Given the description of an element on the screen output the (x, y) to click on. 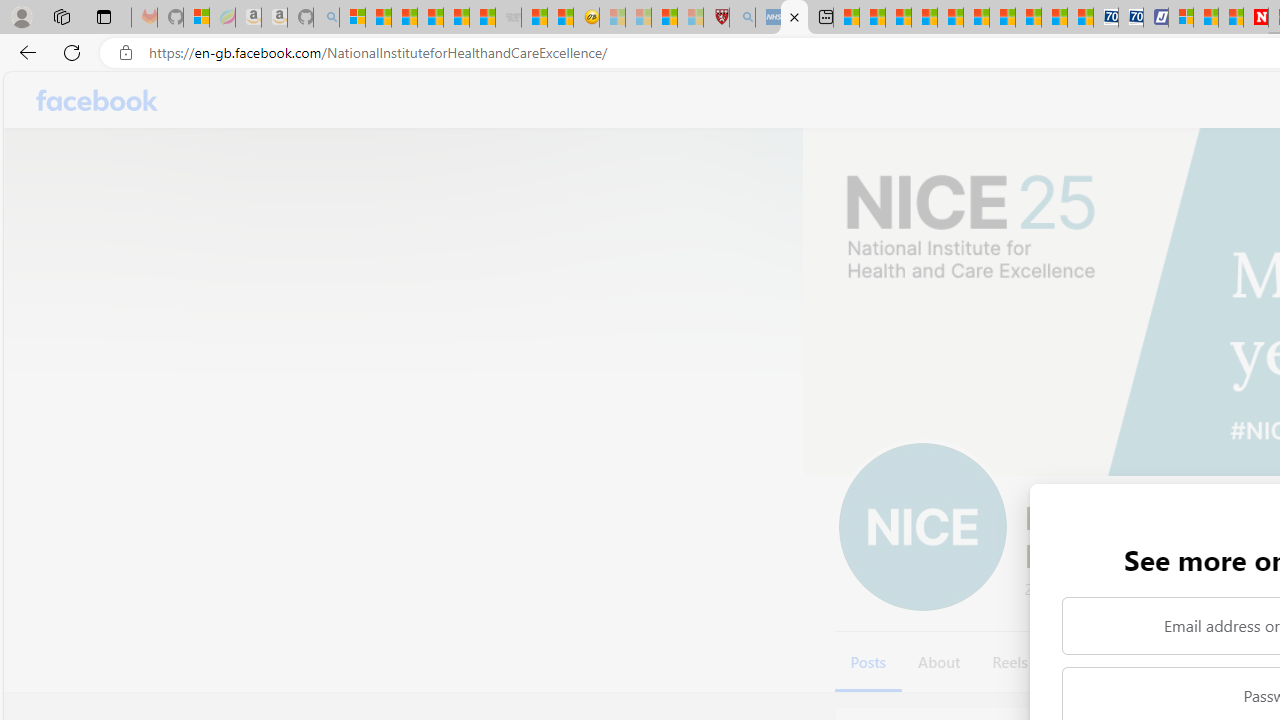
Facebook (97, 99)
